Given the description of an element on the screen output the (x, y) to click on. 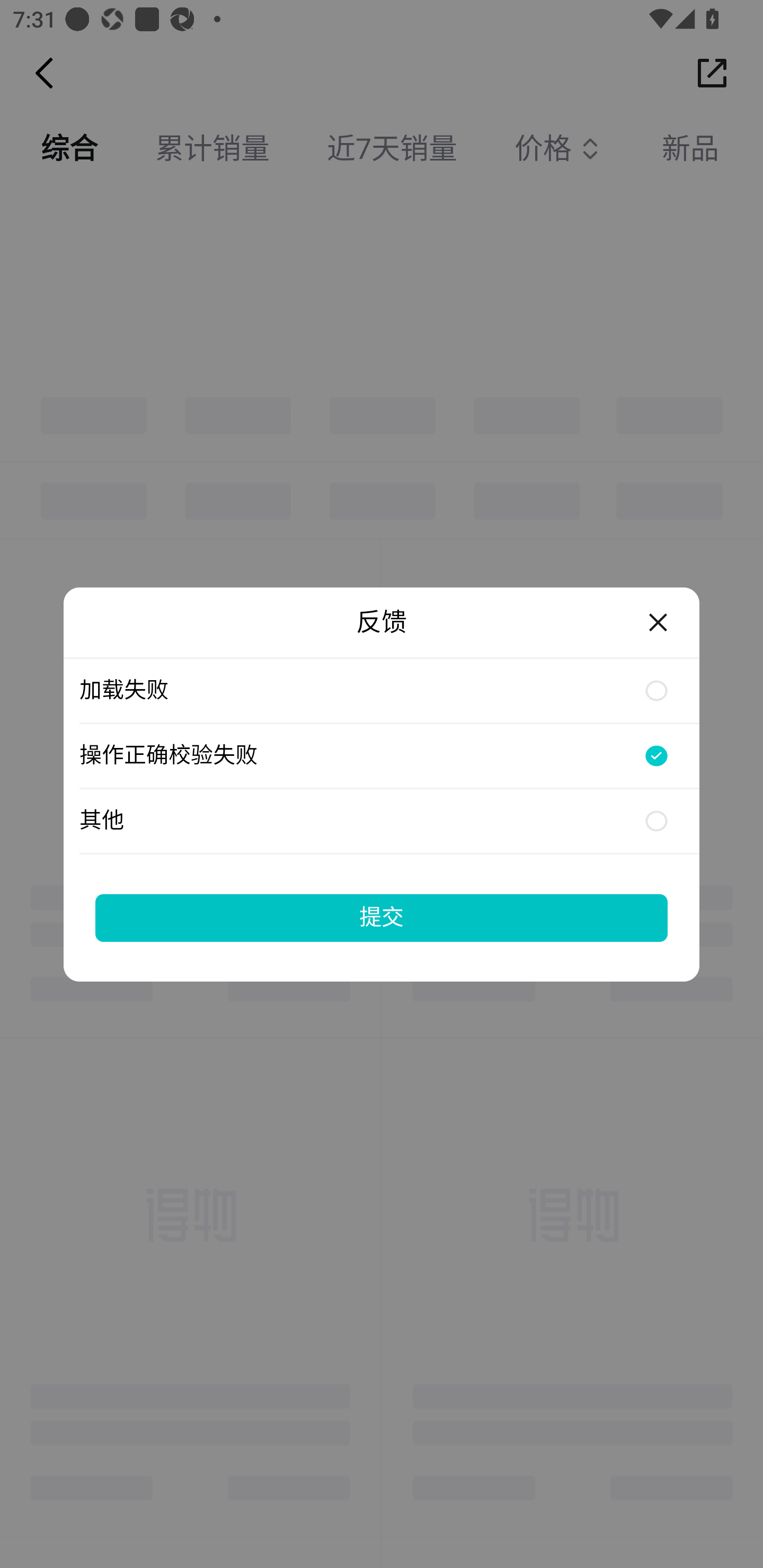
提交 (381, 917)
